Given the description of an element on the screen output the (x, y) to click on. 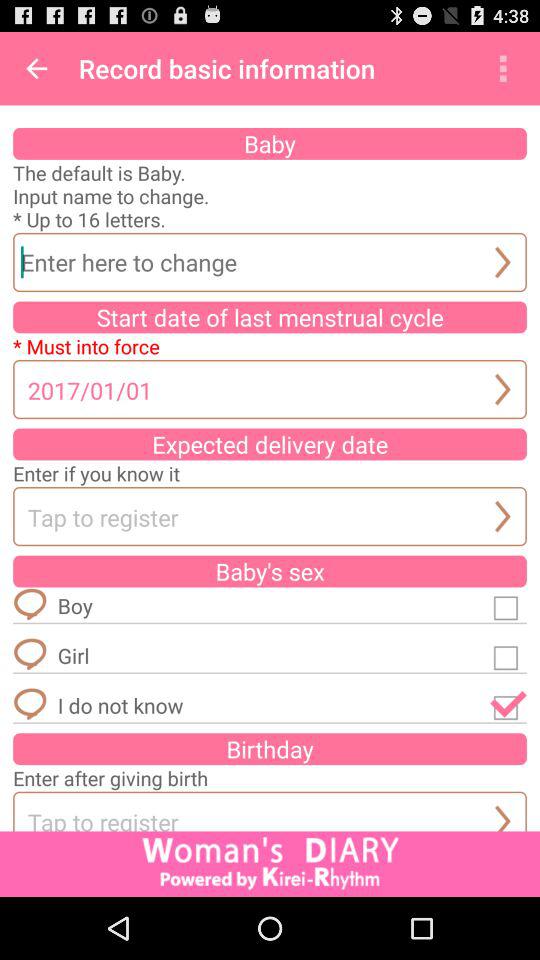
choose icon above baby (36, 68)
